Given the description of an element on the screen output the (x, y) to click on. 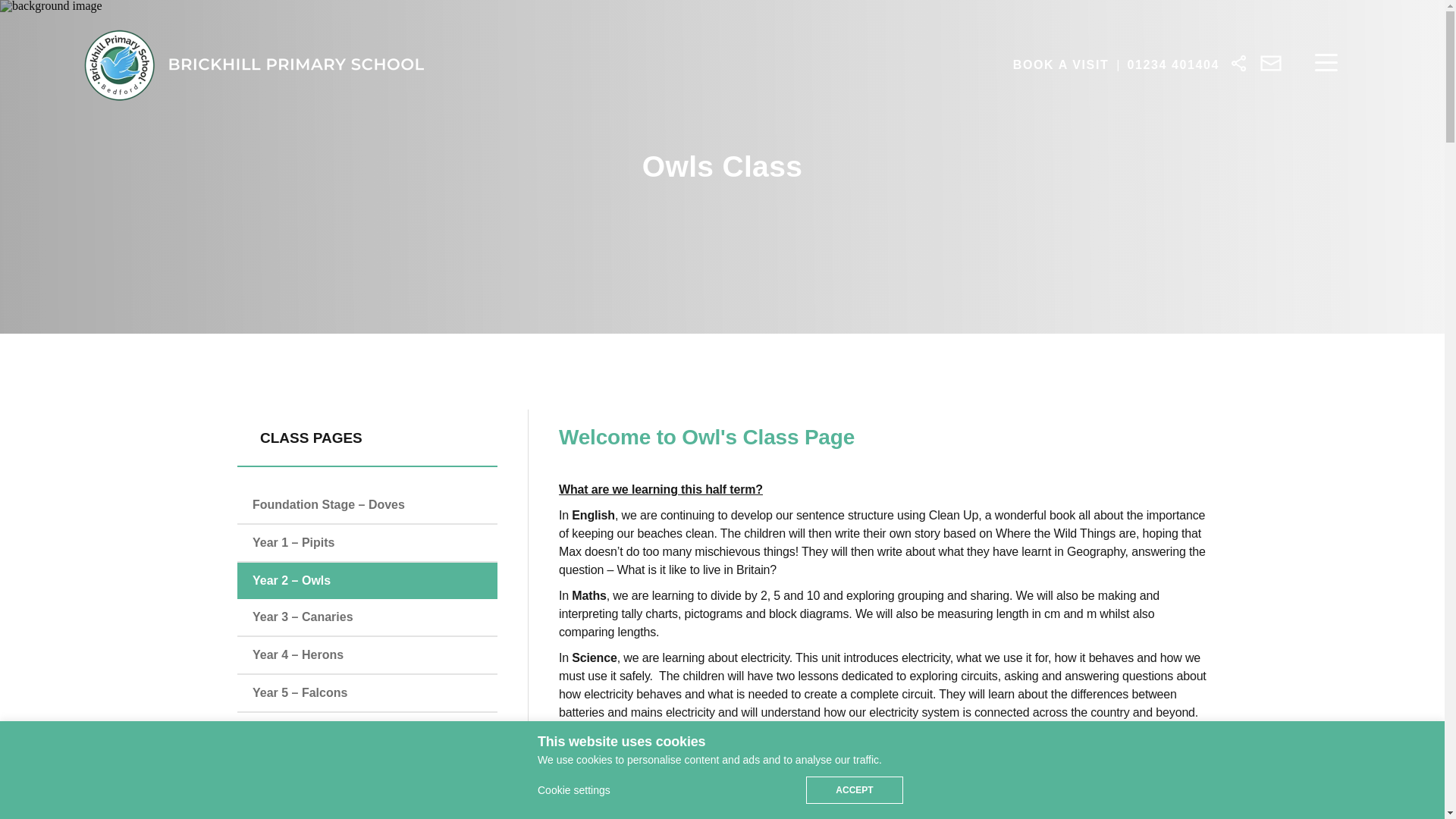
BOOK A VISIT (1059, 64)
01234 401404 (1173, 64)
